Given the description of an element on the screen output the (x, y) to click on. 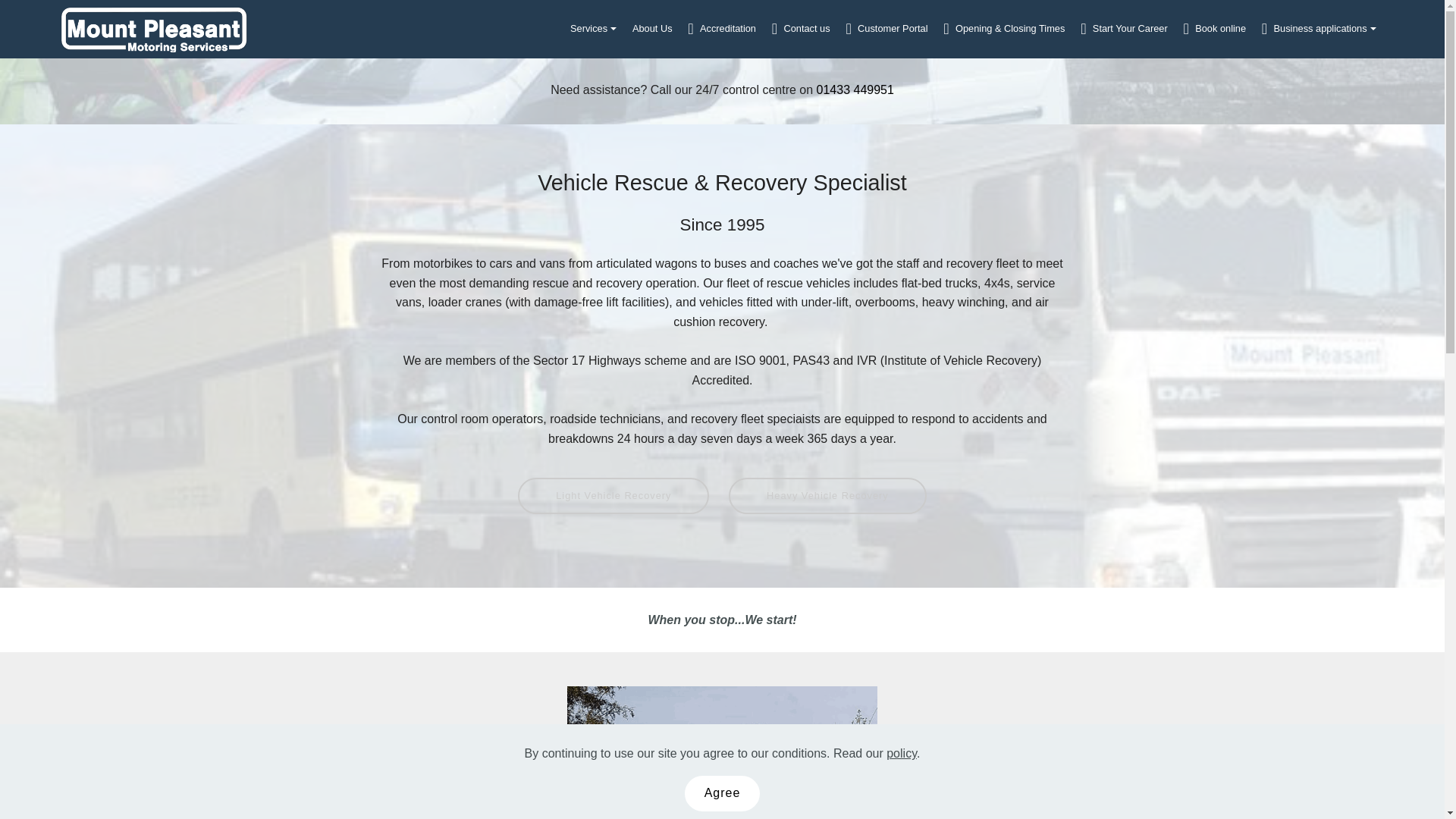
VIDEO SLIDE (722, 752)
About Us (651, 28)
Accreditation (721, 28)
Customer Portal (886, 28)
Heavy Vehicle Recovery (827, 496)
Book online (1214, 28)
Light Vehicle Recovery (613, 496)
Start Your Career (1123, 28)
Services (592, 28)
Mount Pleasant Motoring Services Ltd (154, 28)
